Given the description of an element on the screen output the (x, y) to click on. 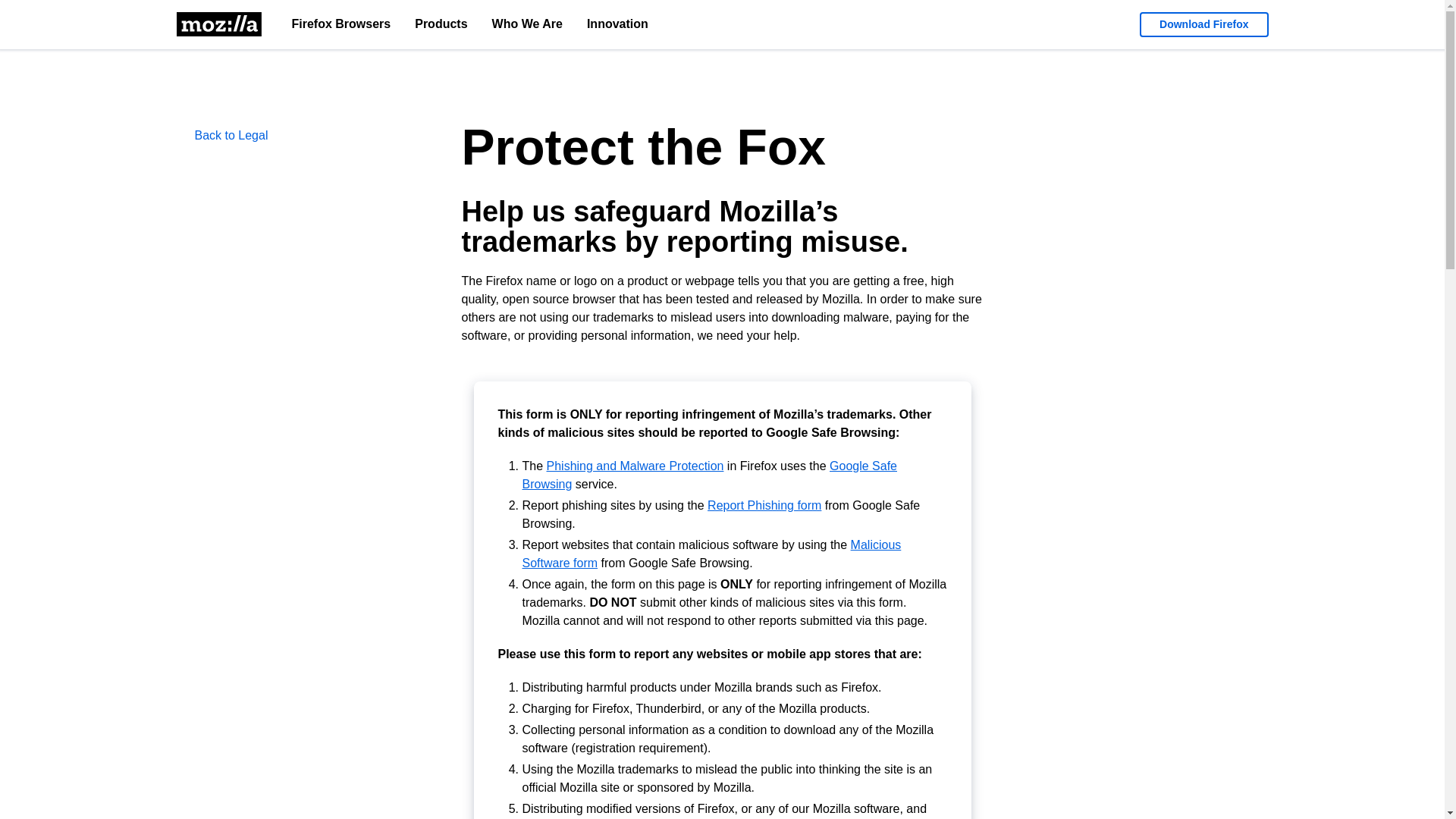
Firefox Browsers (341, 24)
Products (441, 24)
Download Firefox (1204, 24)
Who We Are (527, 24)
